Given the description of an element on the screen output the (x, y) to click on. 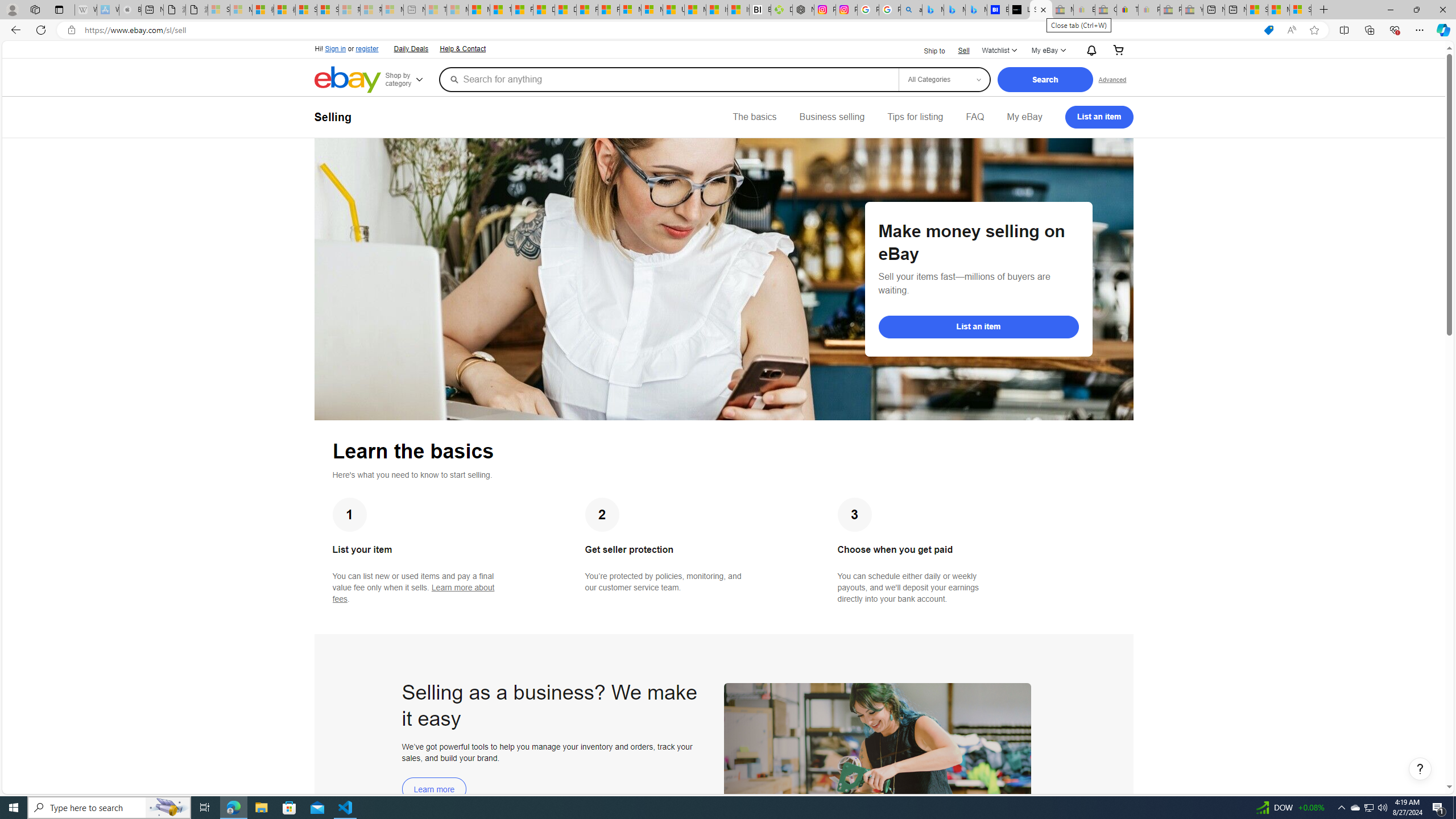
Drinking tea every day is proven to delay biological aging (565, 9)
Microsoft Bing Travel - Flights from Hong Kong to Bangkok (933, 9)
Payments Terms of Use | eBay.com - Sleeping (1149, 9)
Microsoft Bing Travel - Shangri-La Hotel Bangkok (975, 9)
Marine life - MSN - Sleeping (457, 9)
Shop by category (410, 79)
List an item (977, 326)
Sign in to your Microsoft account - Sleeping (218, 9)
